Given the description of an element on the screen output the (x, y) to click on. 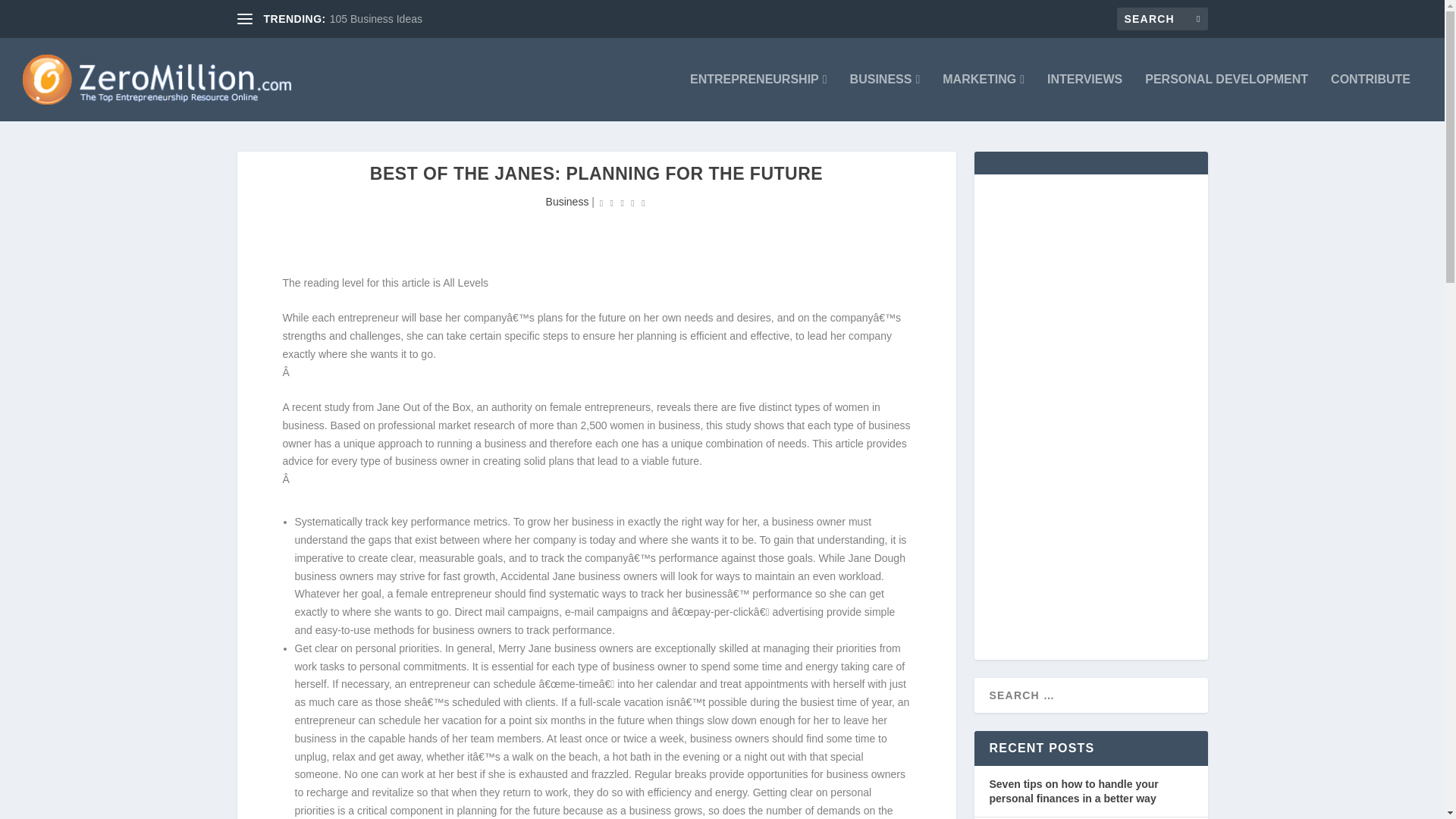
Advertisement (512, 222)
Business (567, 201)
PERSONAL DEVELOPMENT (1225, 97)
BUSINESS (885, 97)
Rating: 0.00 (621, 202)
ENTREPRENEURSHIP (758, 97)
CONTRIBUTE (1370, 97)
Search for: (1161, 18)
INTERVIEWS (1084, 97)
105 Business Ideas (376, 19)
